Given the description of an element on the screen output the (x, y) to click on. 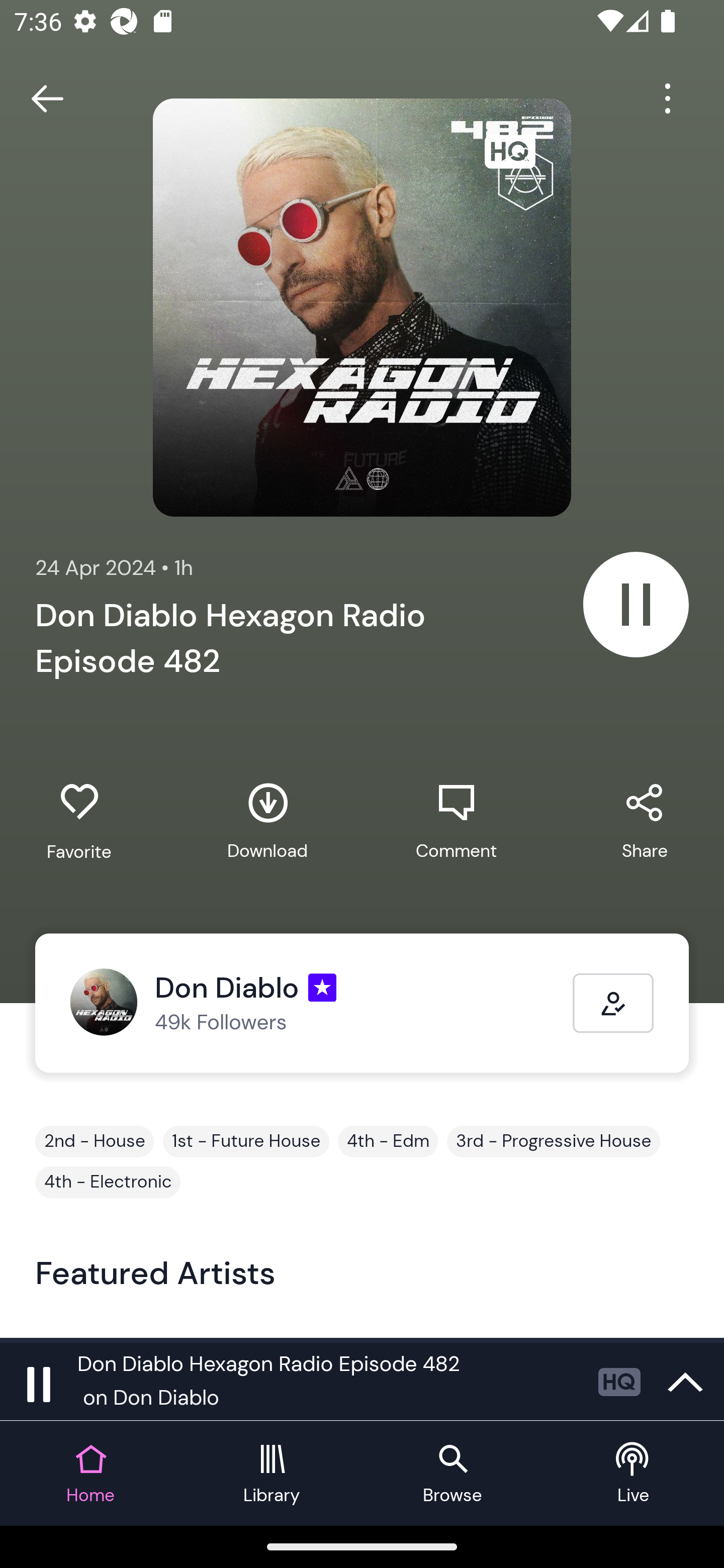
Favorite (79, 821)
Download (267, 821)
Comment (455, 821)
Share (644, 821)
Don Diablo, 49k Followers Don Diablo 49k Followers (321, 1003)
Following (612, 1003)
2nd - House (94, 1141)
1st - Future House (245, 1141)
4th - Edm (388, 1141)
3rd - Progressive House (553, 1141)
4th - Electronic (107, 1181)
Home tab Home (90, 1473)
Library tab Library (271, 1473)
Browse tab Browse (452, 1473)
Live tab Live (633, 1473)
